Given the description of an element on the screen output the (x, y) to click on. 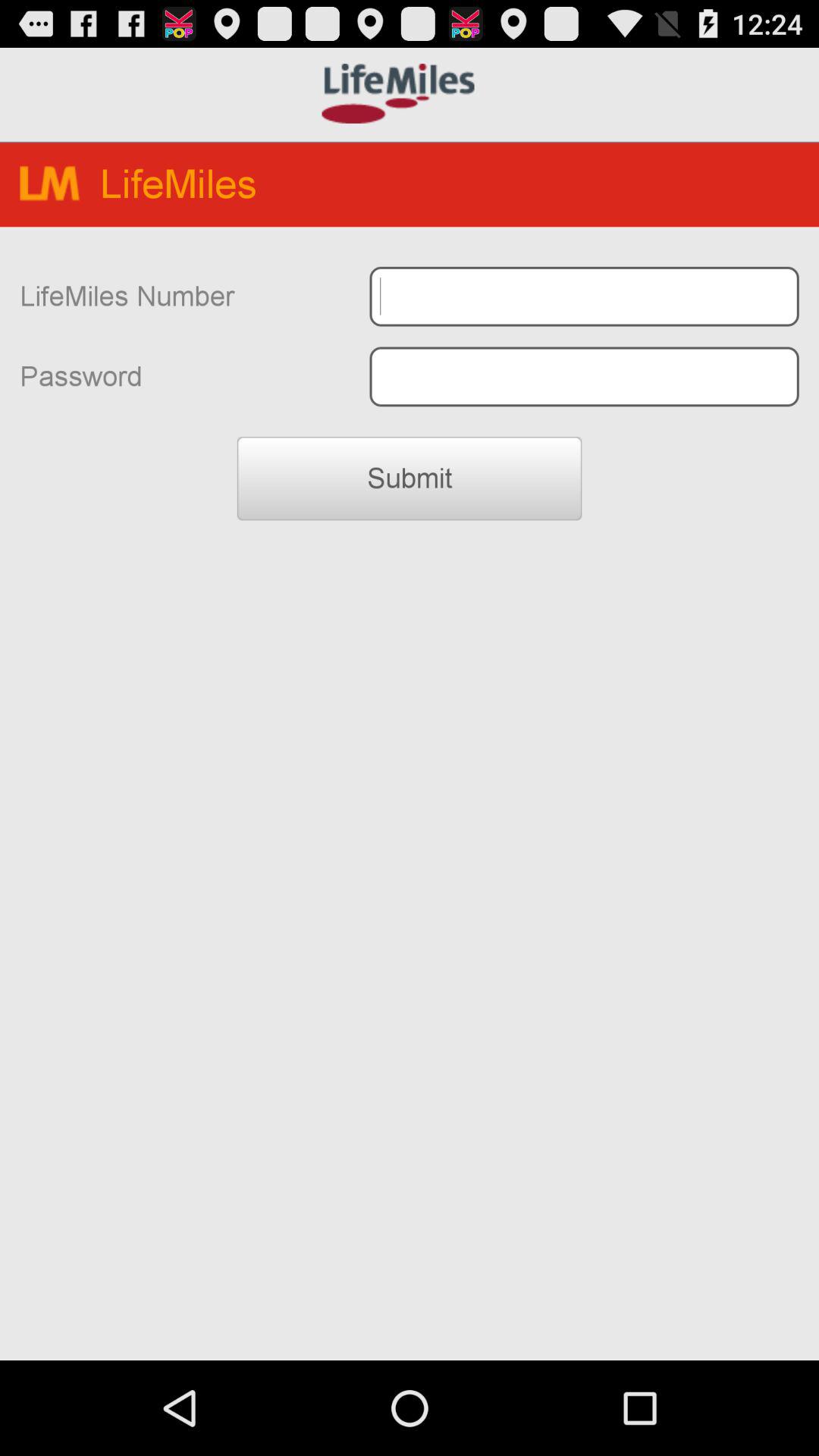
enter lifemiles number (584, 296)
